Given the description of an element on the screen output the (x, y) to click on. 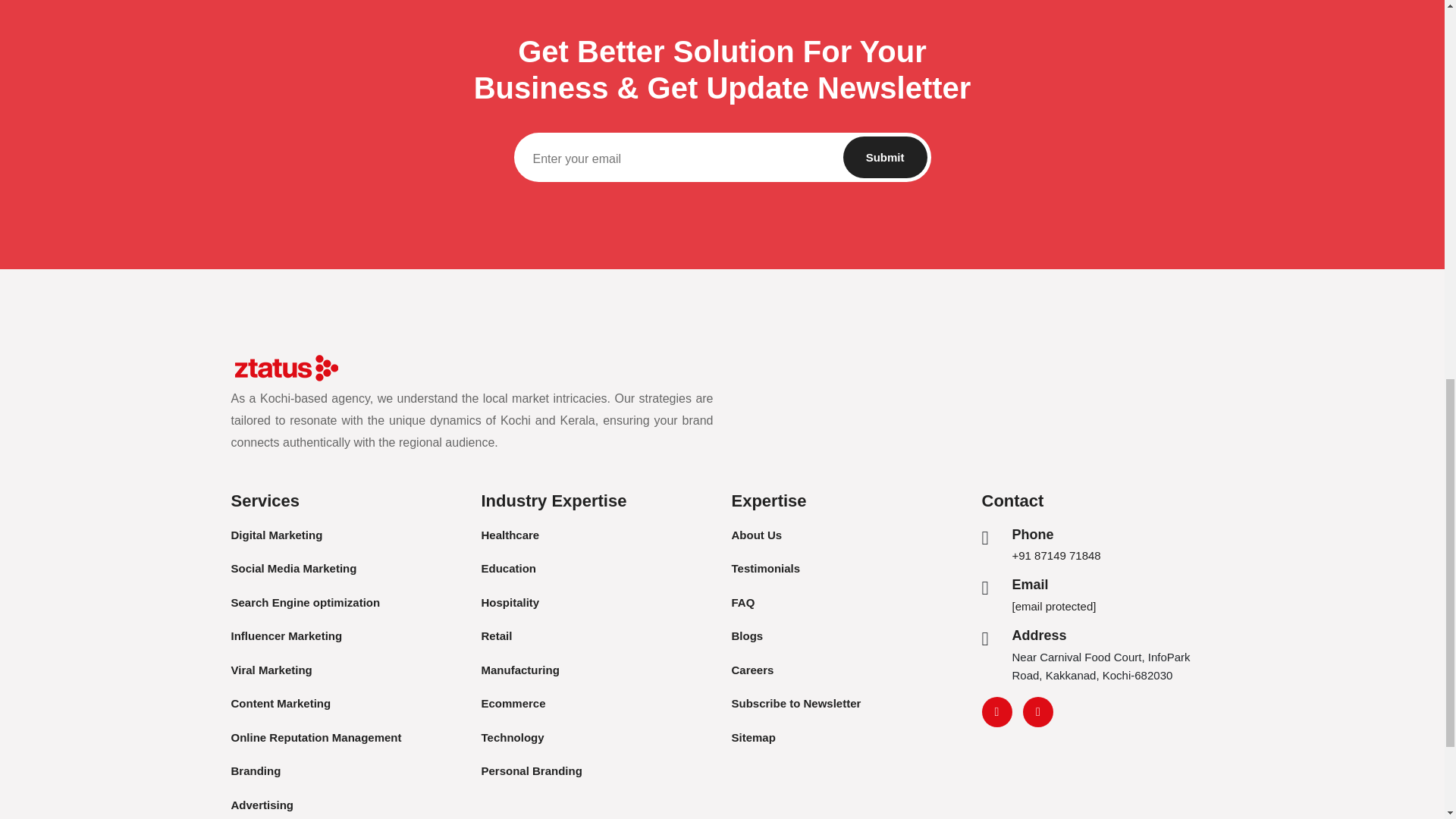
Online Reputation Management (315, 737)
Influencer Marketing (286, 635)
Social Media Marketing (293, 567)
Submit (885, 157)
Viral Marketing (270, 669)
Digital Marketing (275, 534)
Search Engine optimization (305, 602)
Content Marketing (280, 703)
